Given the description of an element on the screen output the (x, y) to click on. 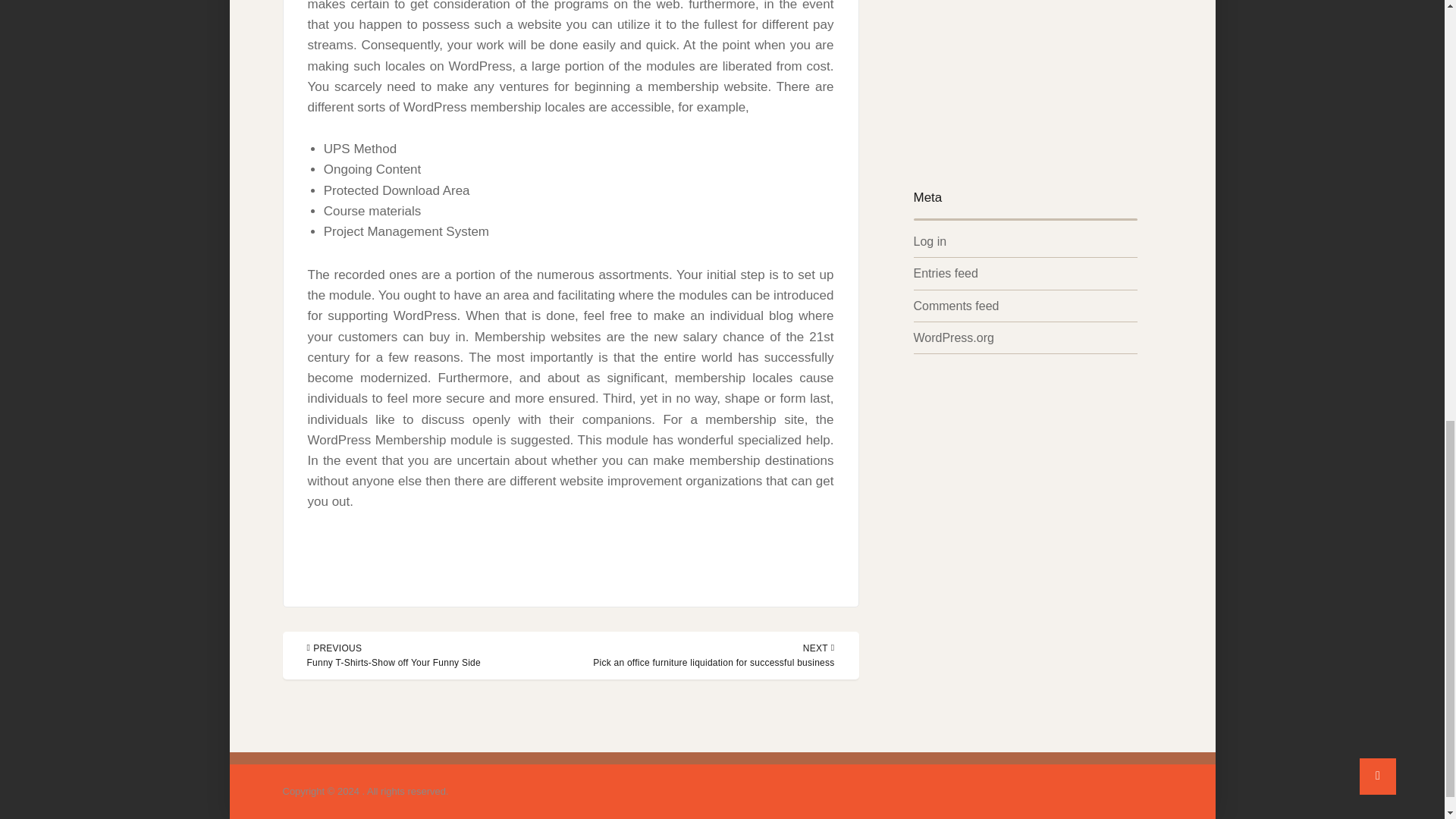
WordPress.org (952, 337)
Log in (929, 241)
Entries feed (944, 273)
Comments feed (955, 305)
